Given the description of an element on the screen output the (x, y) to click on. 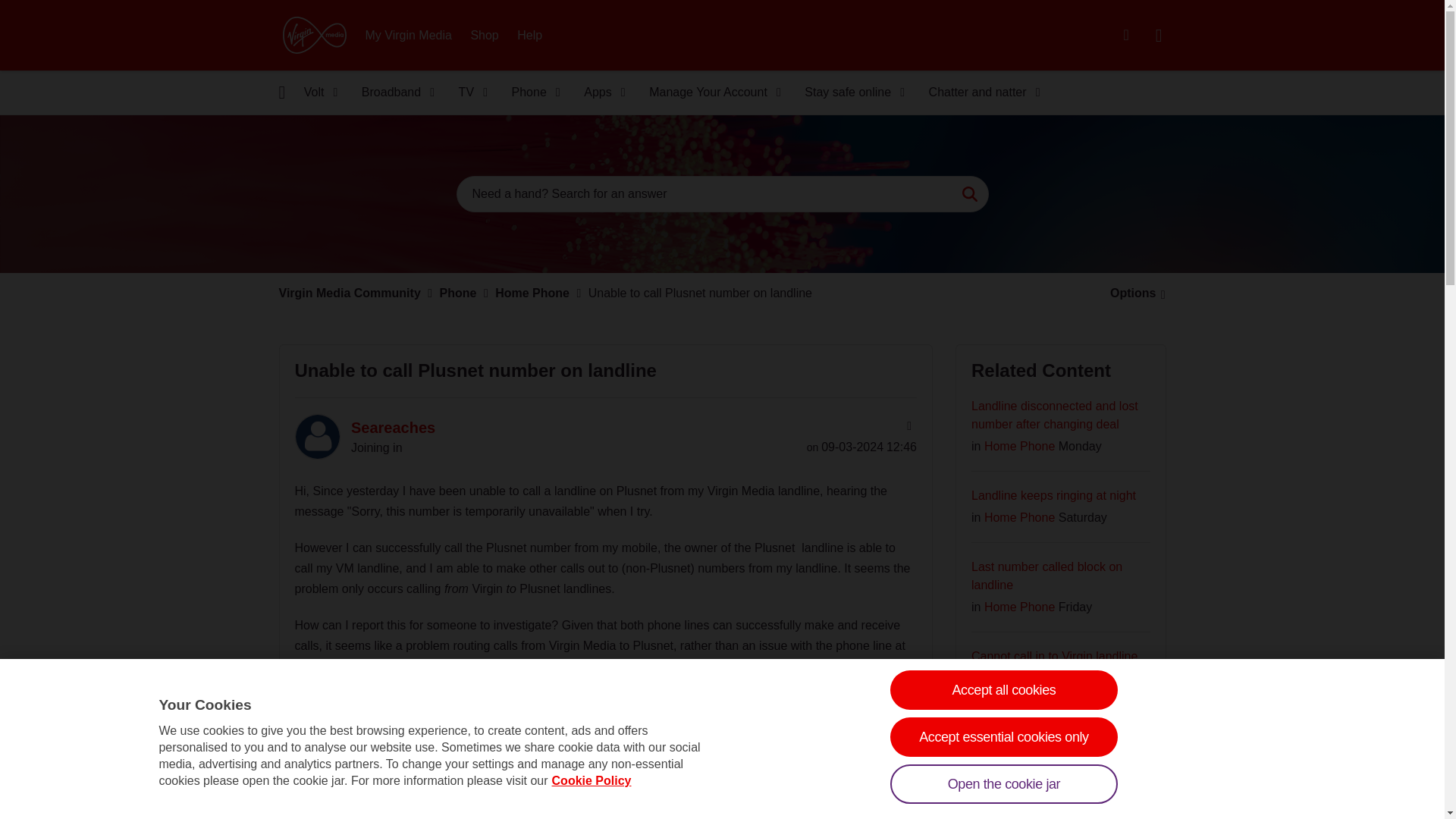
Search (969, 193)
Stay safe online (849, 92)
Search (969, 193)
Help (529, 34)
TV (468, 92)
The total number of kudos this post has received. (358, 725)
Seareaches (316, 436)
Virgin Media (314, 35)
Search (722, 194)
Phone (531, 92)
My Virgin Media (409, 34)
Community FAQ (1126, 35)
Show option menu (907, 426)
Broadband (392, 92)
